Given the description of an element on the screen output the (x, y) to click on. 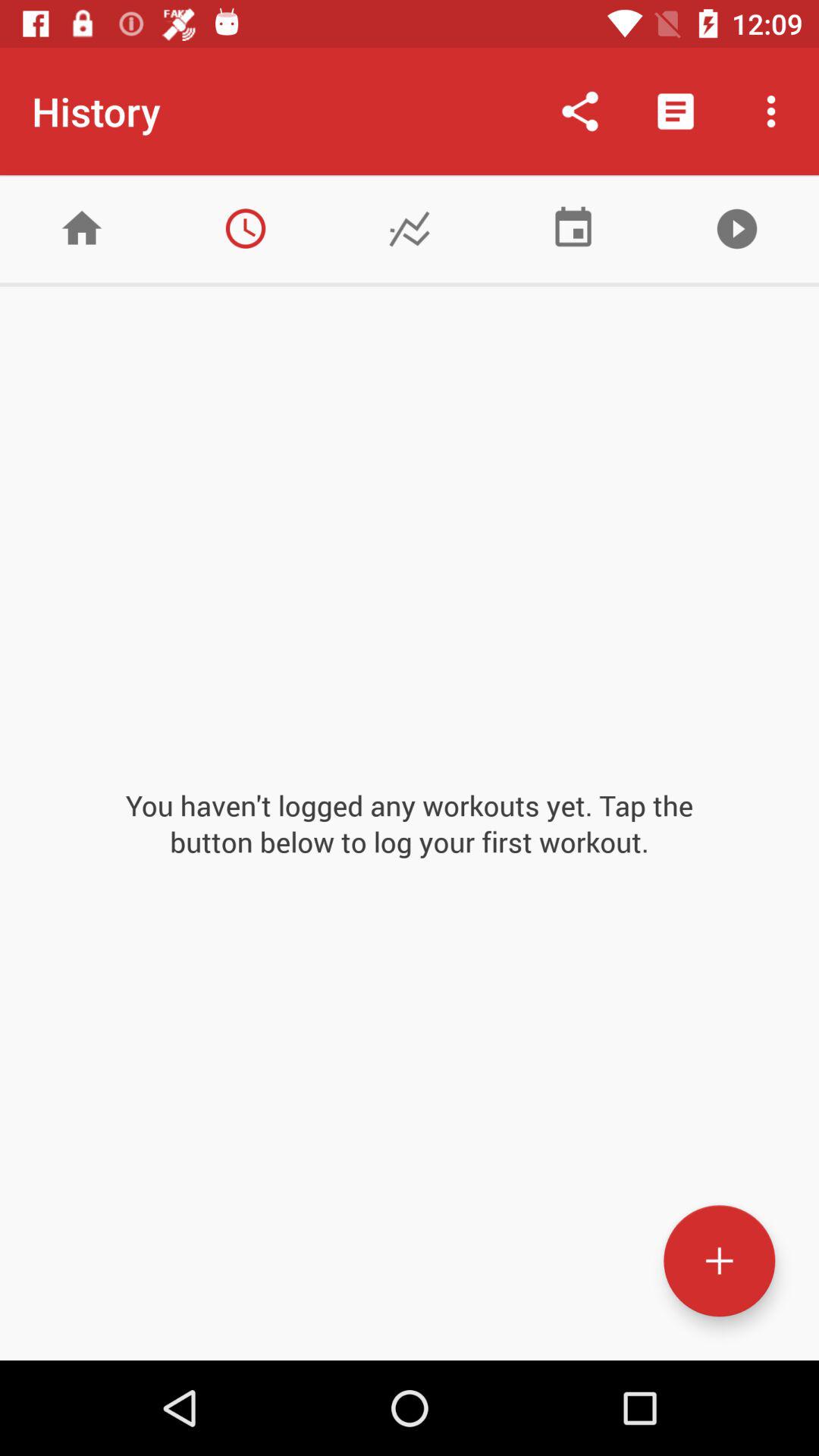
see graph view (409, 228)
